Given the description of an element on the screen output the (x, y) to click on. 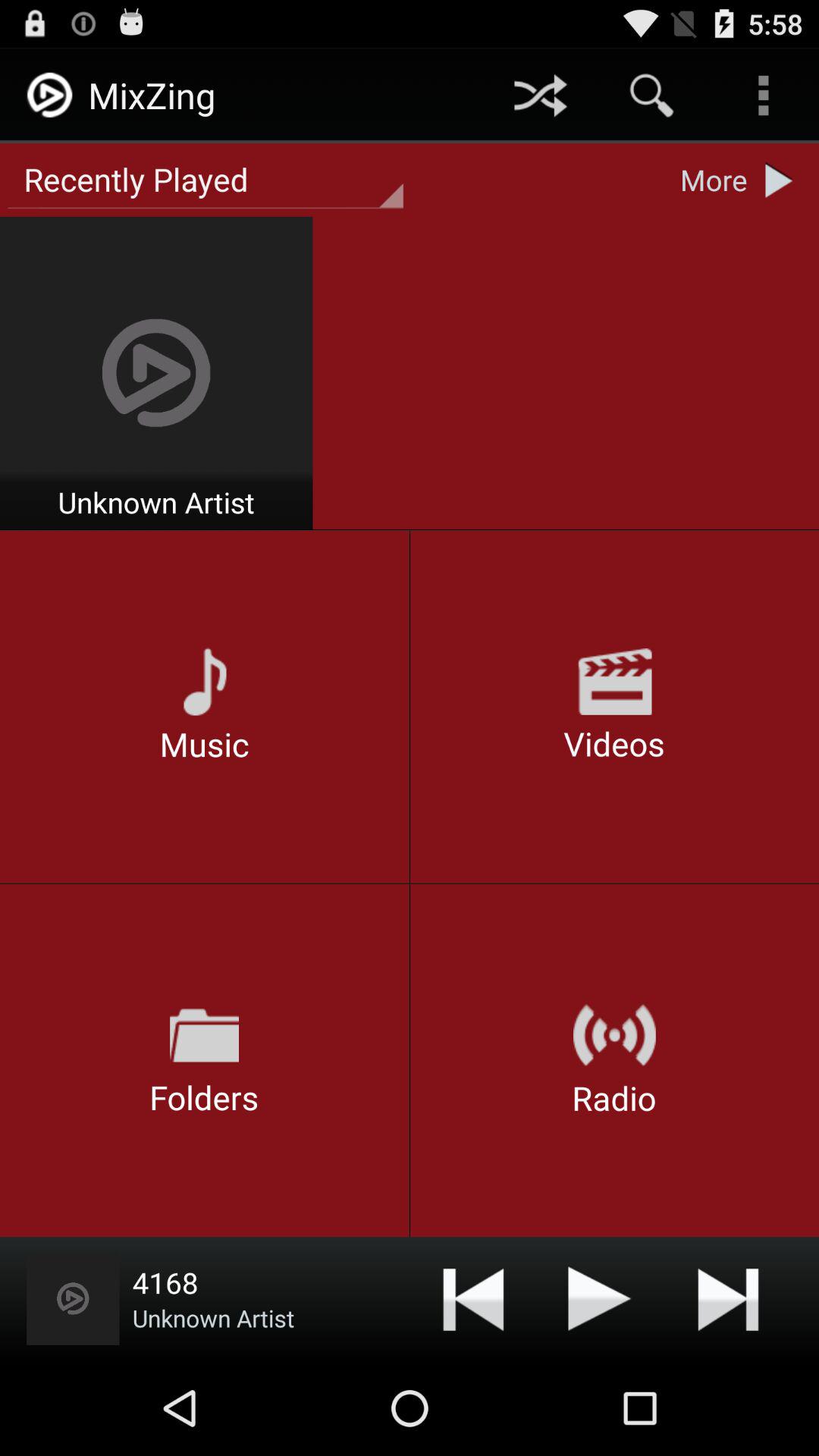
go forward (728, 1298)
